Given the description of an element on the screen output the (x, y) to click on. 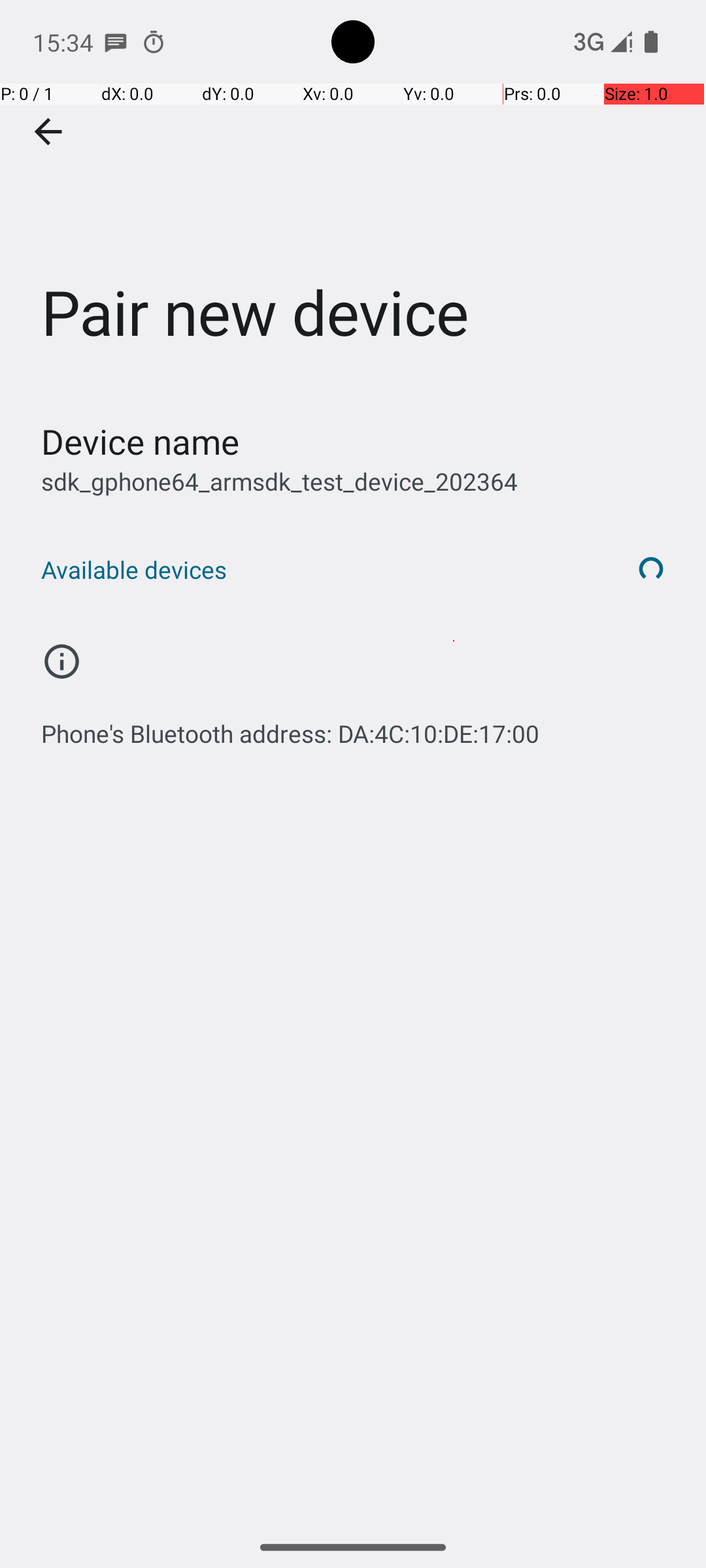
sdk_gphone64_armsdk_test_device_202364 Element type: android.widget.TextView (279, 480)
